Given the description of an element on the screen output the (x, y) to click on. 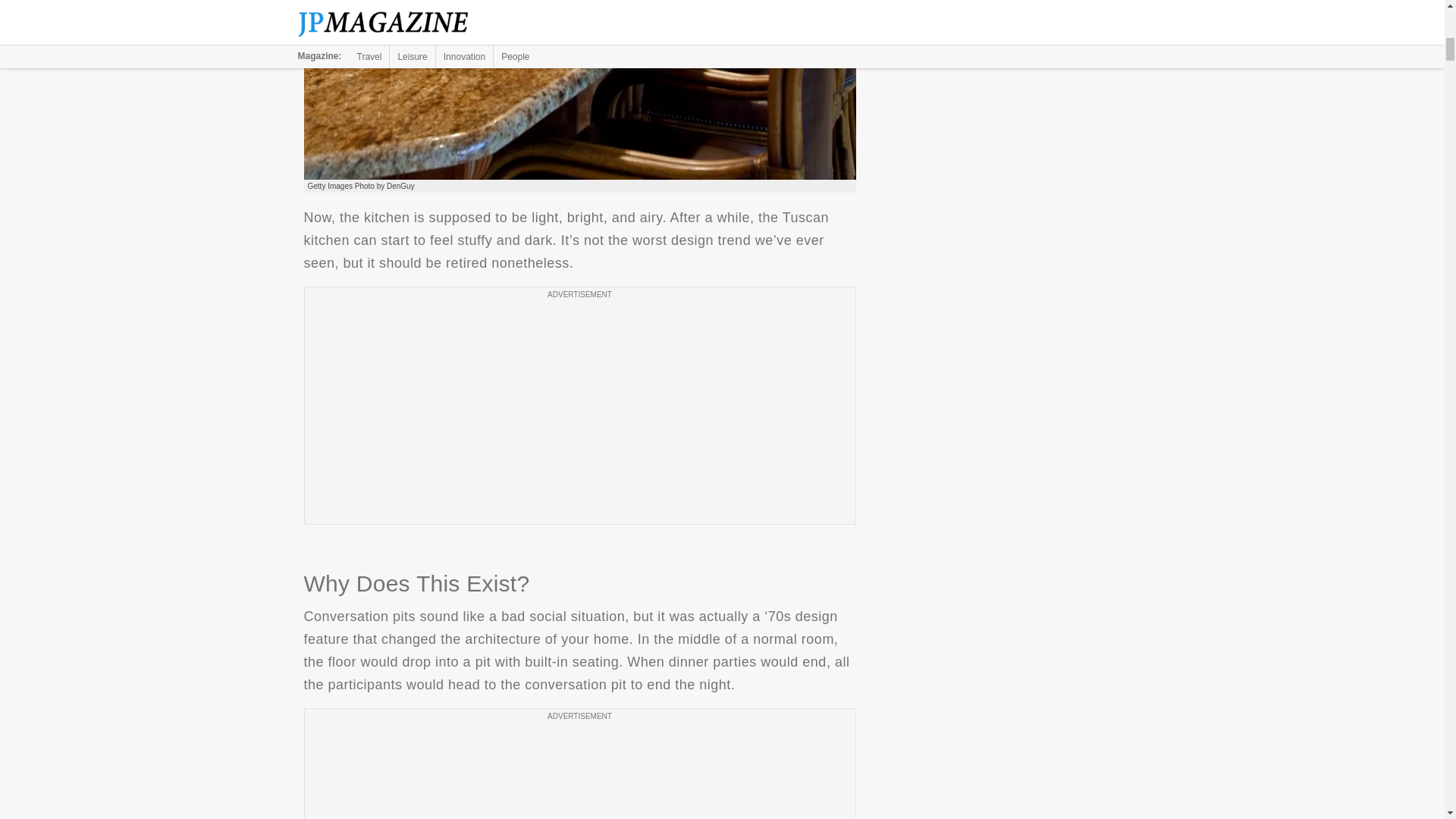
This Isn't Tuscany (579, 89)
